Given the description of an element on the screen output the (x, y) to click on. 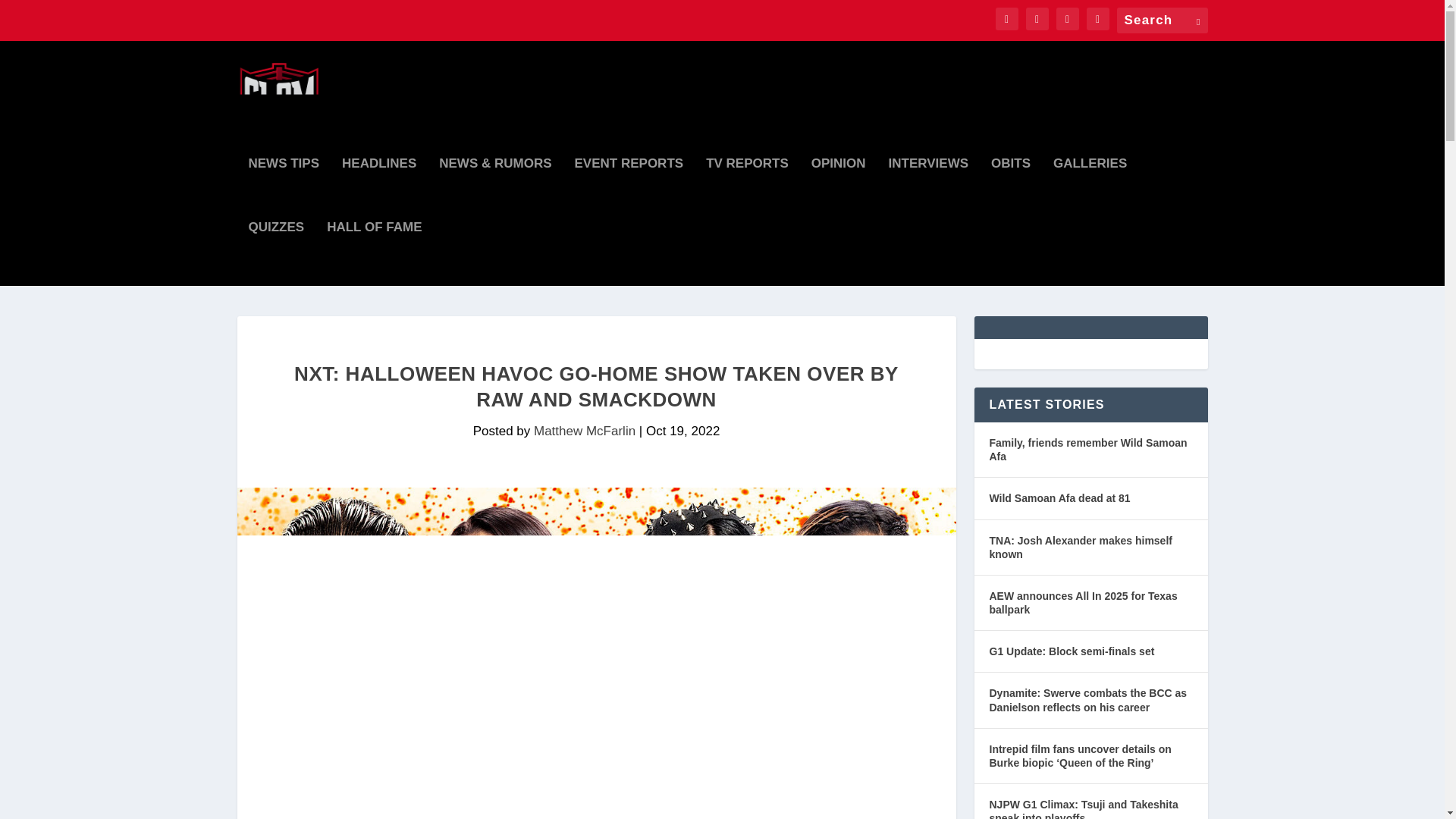
HEADLINES (379, 189)
AEW announces All In 2025 for Texas ballpark (1090, 603)
G1 Update: Block semi-finals set (1071, 651)
TNA: Josh Alexander makes himself known (1090, 547)
Wild Samoan Afa dead at 81 (1058, 497)
Family, friends remember Wild Samoan Afa (1090, 450)
NEWS TIPS (284, 189)
Posts by Matthew McFarlin (584, 431)
TV REPORTS (747, 189)
